Given the description of an element on the screen output the (x, y) to click on. 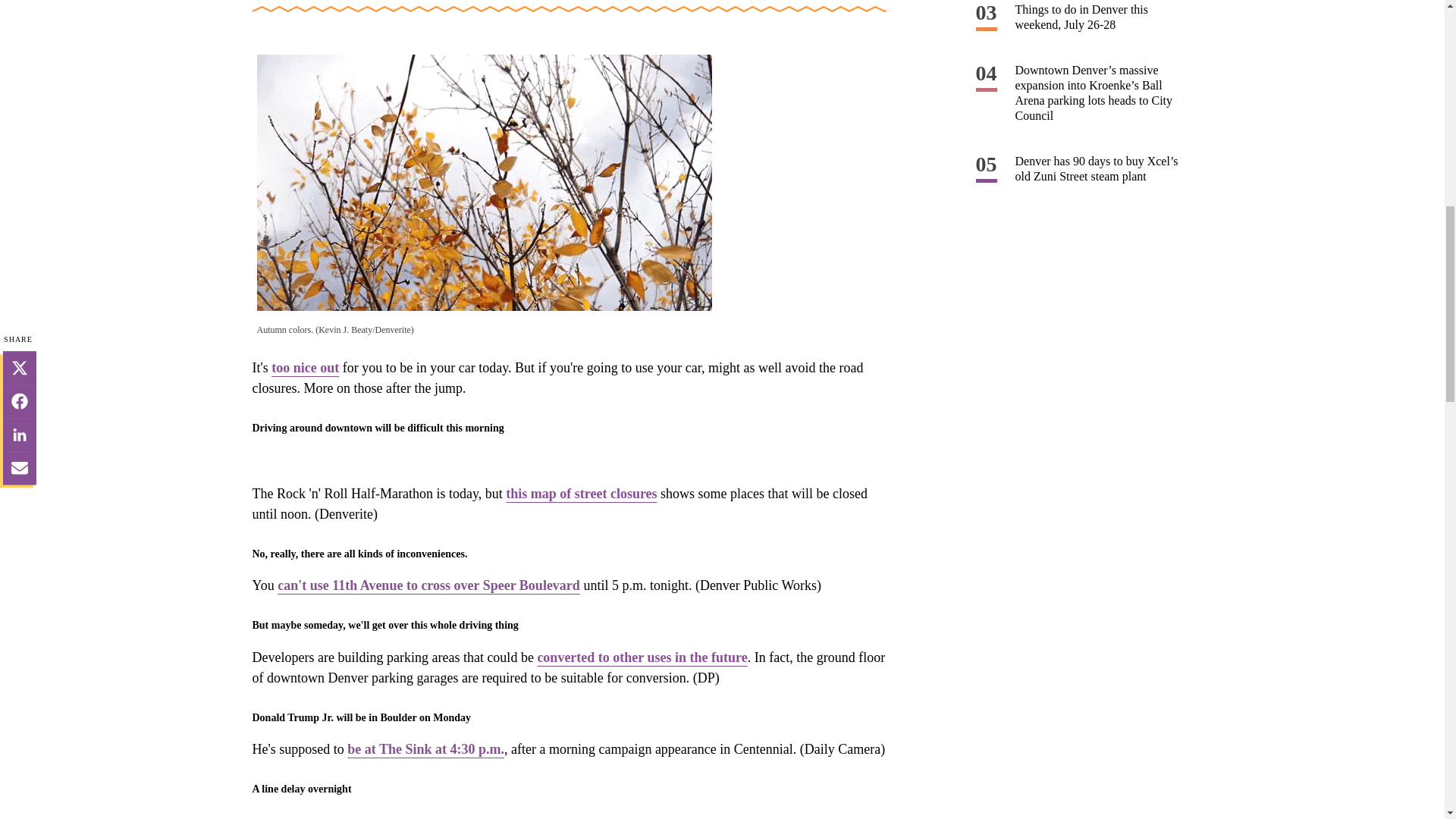
too nice out (304, 367)
can't use 11th Avenue to cross over Speer Boulevard (428, 585)
converted to other uses in the future (641, 657)
this map of street closures (580, 493)
be at The Sink at 4:30 p.m. (425, 749)
